Given the description of an element on the screen output the (x, y) to click on. 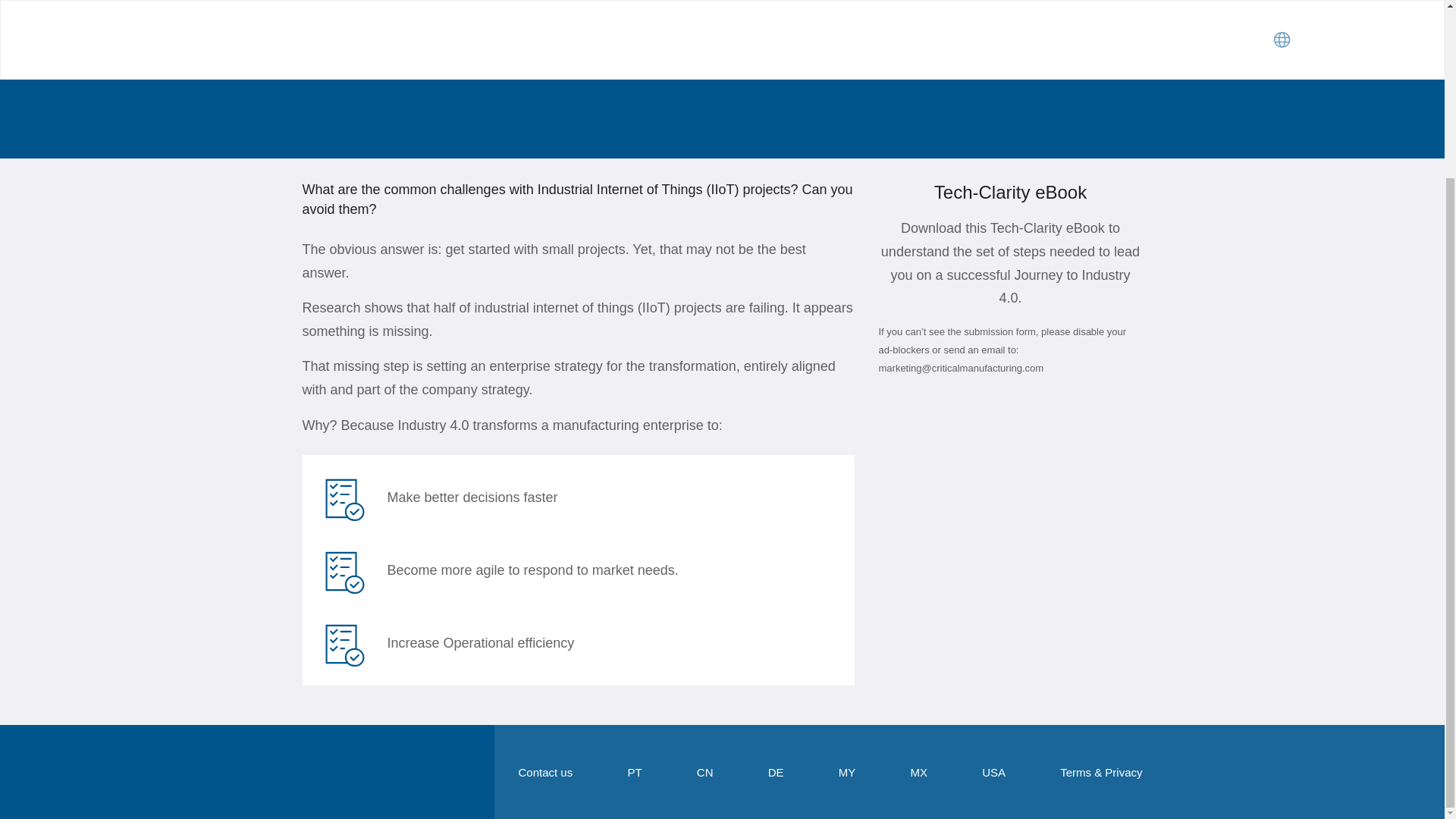
MX (918, 771)
Germany (776, 771)
Contact us (545, 771)
PT (634, 771)
MY (847, 771)
China  (705, 771)
Contact us (545, 771)
CN (705, 771)
USA (993, 771)
DE (776, 771)
DOWNLOAD EBOOK (398, 55)
Portugal  (634, 771)
Download eBook (398, 55)
USA (993, 771)
